Given the description of an element on the screen output the (x, y) to click on. 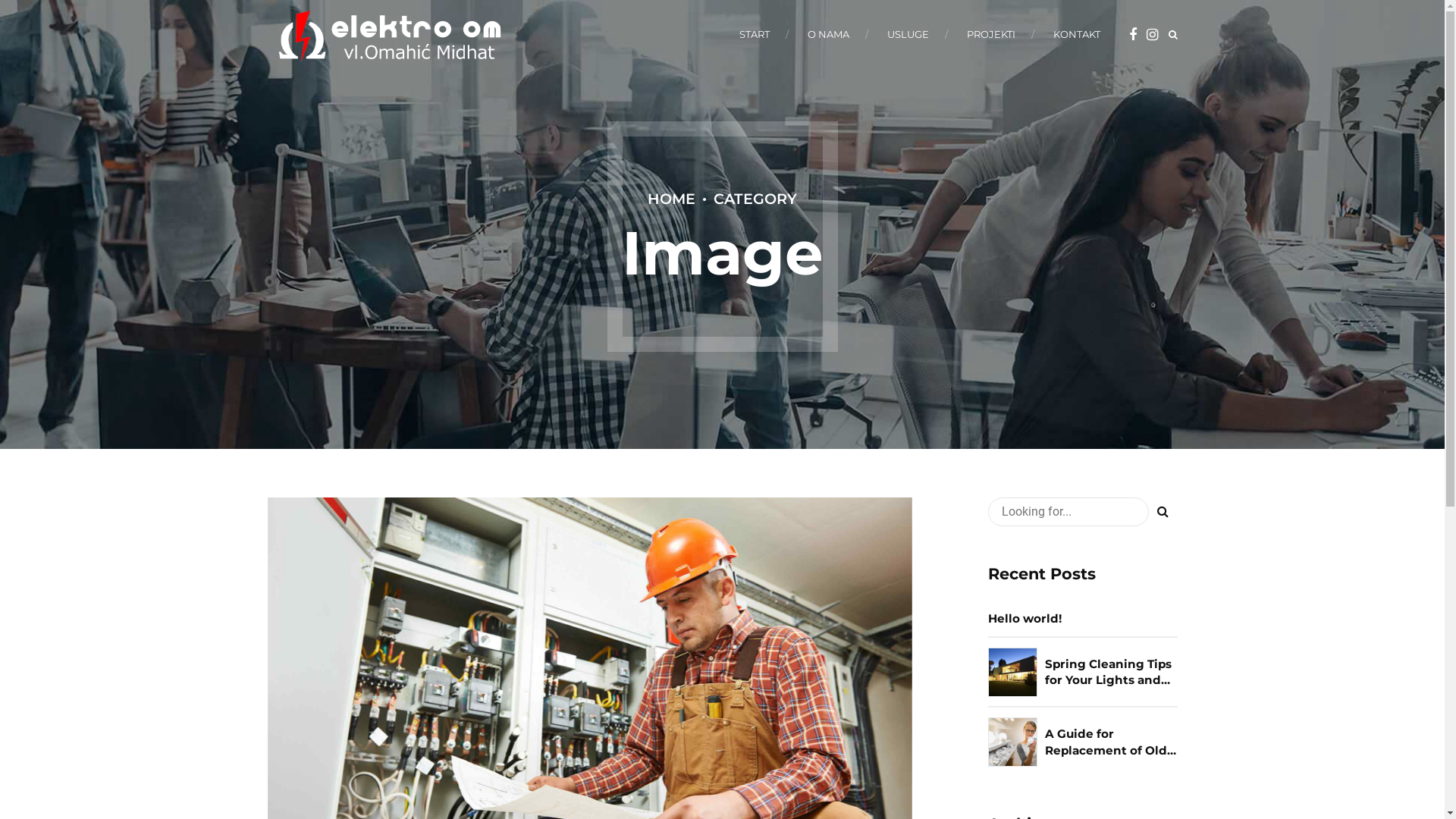
Spring Cleaning Tips for Your Lights and Fans Element type: text (1110, 671)
KONTAKT Element type: text (1075, 34)
O NAMA Element type: text (827, 34)
START Element type: text (753, 34)
HOME Element type: text (671, 198)
USLUGE Element type: text (907, 34)
Hello world! Element type: text (1053, 618)
PROJEKTI Element type: text (990, 34)
A Guide for Replacement of Old Lighting Element type: text (1110, 741)
